Given the description of an element on the screen output the (x, y) to click on. 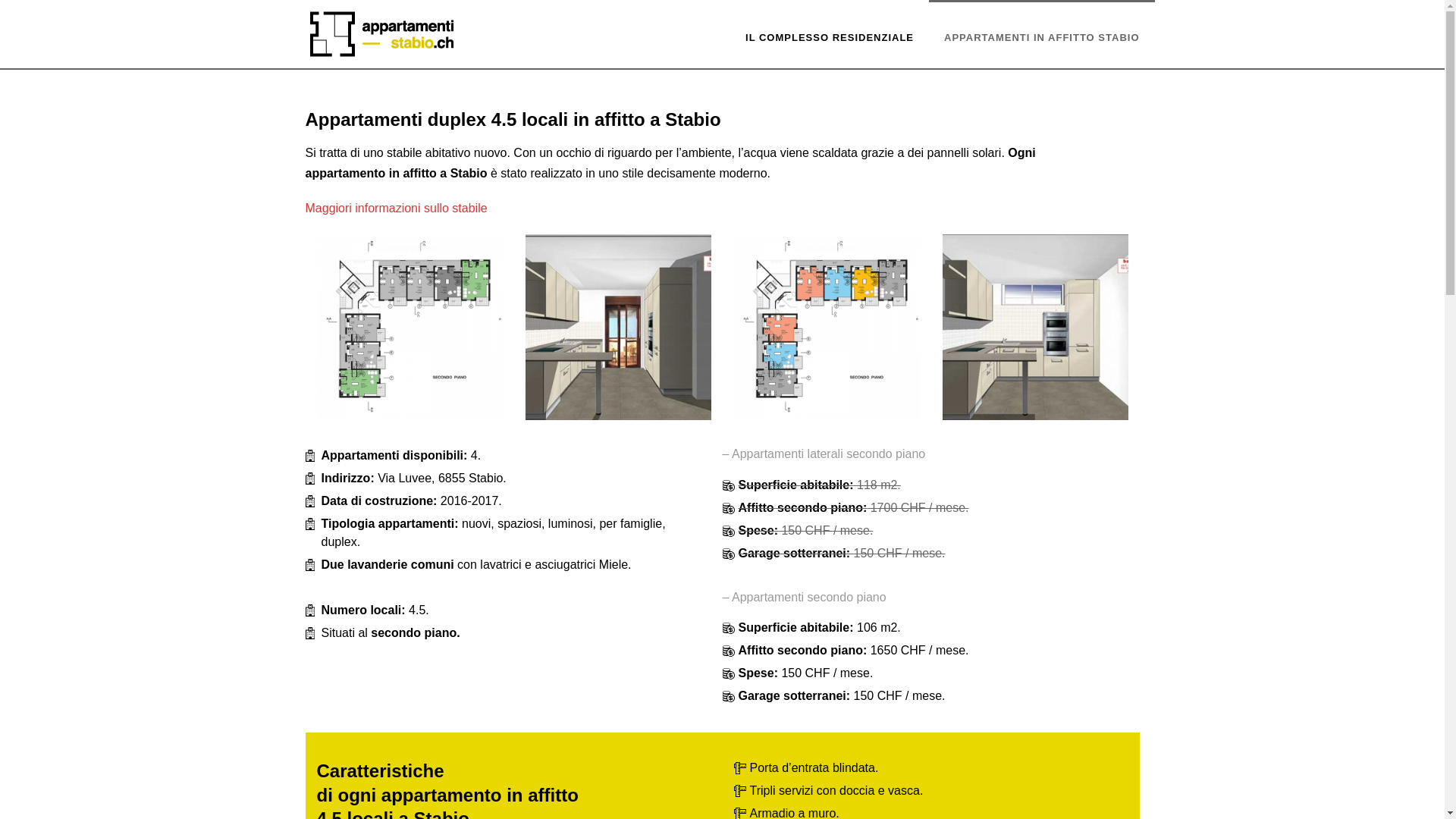
APPARTAMENTI IN AFFITTO STABIO Element type: text (1041, 34)
Appartamenti duplex 4.5 locali: le cucine Element type: hover (617, 327)
IL COMPLESSO RESIDENZIALE Element type: text (829, 34)
Appartamenti duplex 4.5 locali: le cucine Element type: hover (1034, 327)
Maggiori informazioni sullo stabile Element type: text (395, 207)
Appartamenti duplex 4.5 locali in affitto a Stabio Element type: hover (826, 327)
Appartamenti duplex 4.5 locali in affitto a Stabio Element type: hover (409, 327)
Via Luvee, 6855 Stabio Element type: hover (380, 34)
